Given the description of an element on the screen output the (x, y) to click on. 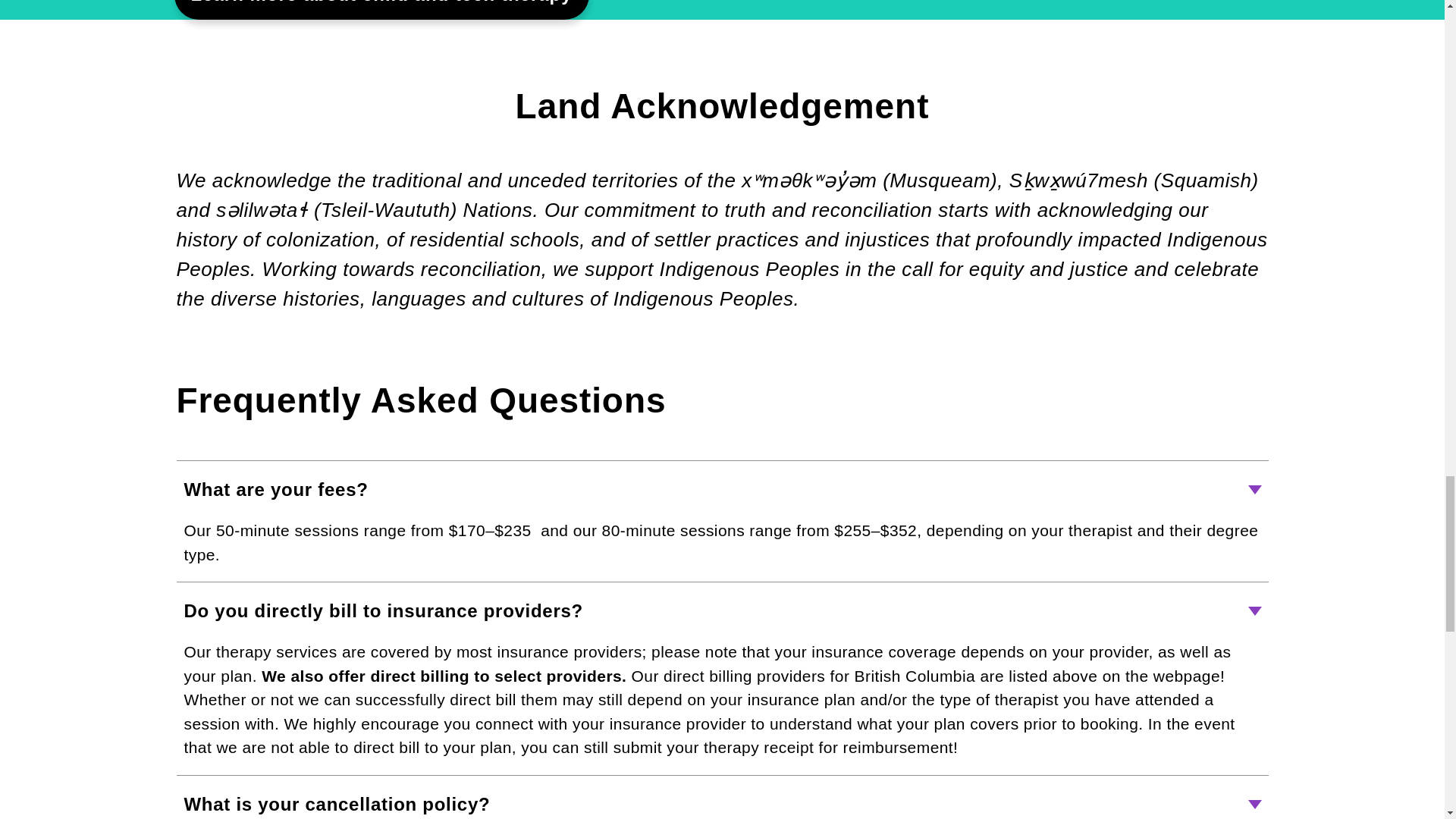
Learn more about child and teen therapy (381, 9)
